Given the description of an element on the screen output the (x, y) to click on. 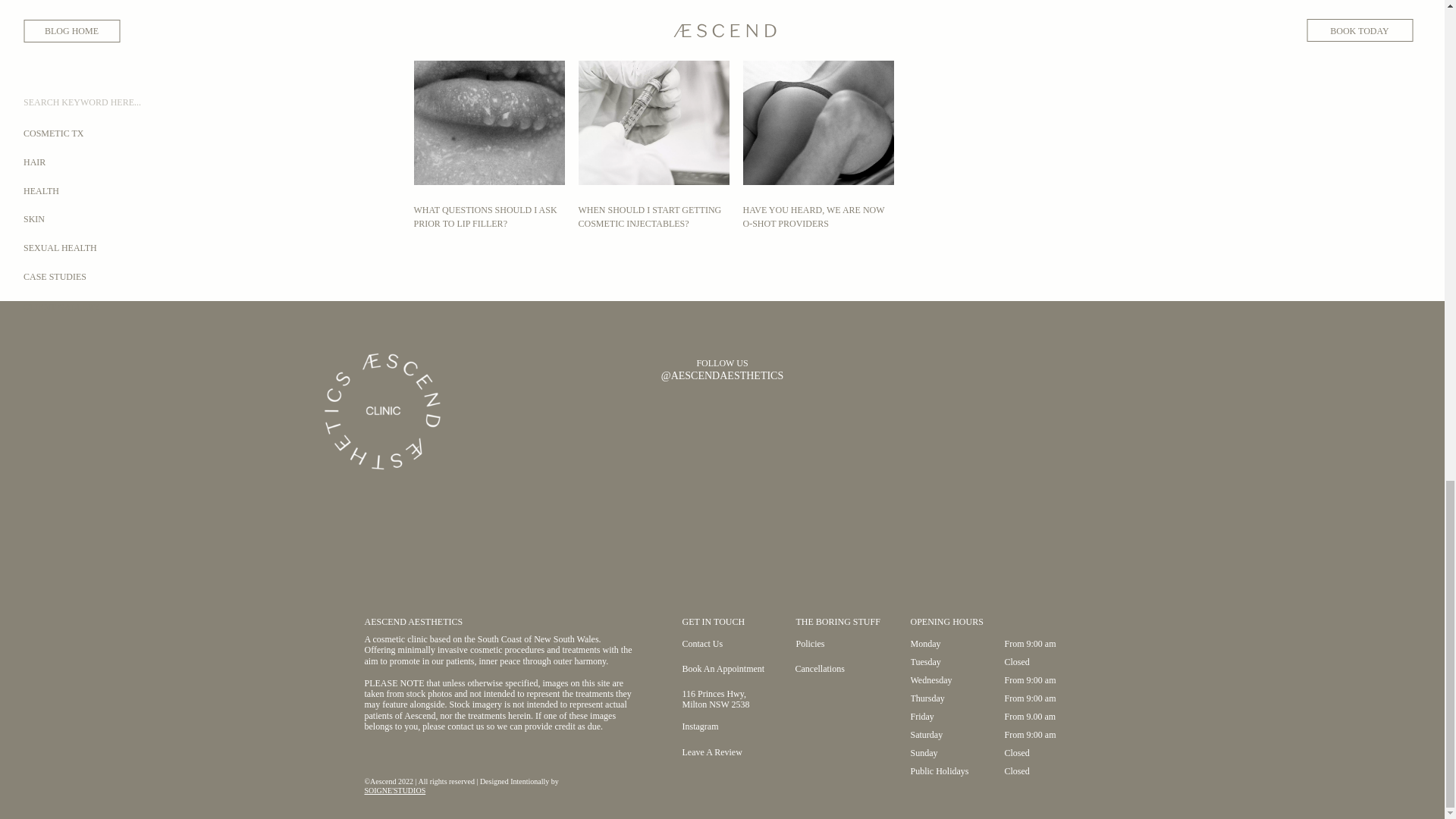
SOIGNE'STUDIOS (394, 790)
116 Princes Hwy, Milton NSW 2538 (725, 699)
When should I start getting cosmetic injectables? (653, 103)
Policies (841, 645)
What questions should I ask prior to lip filler? (488, 103)
Have you heard, we are now O-shot providers (817, 103)
Contact Us (729, 645)
WHEN SHOULD I START GETTING COSMETIC INJECTABLES? (649, 216)
Cancellations (839, 670)
Instagram (725, 728)
